Given the description of an element on the screen output the (x, y) to click on. 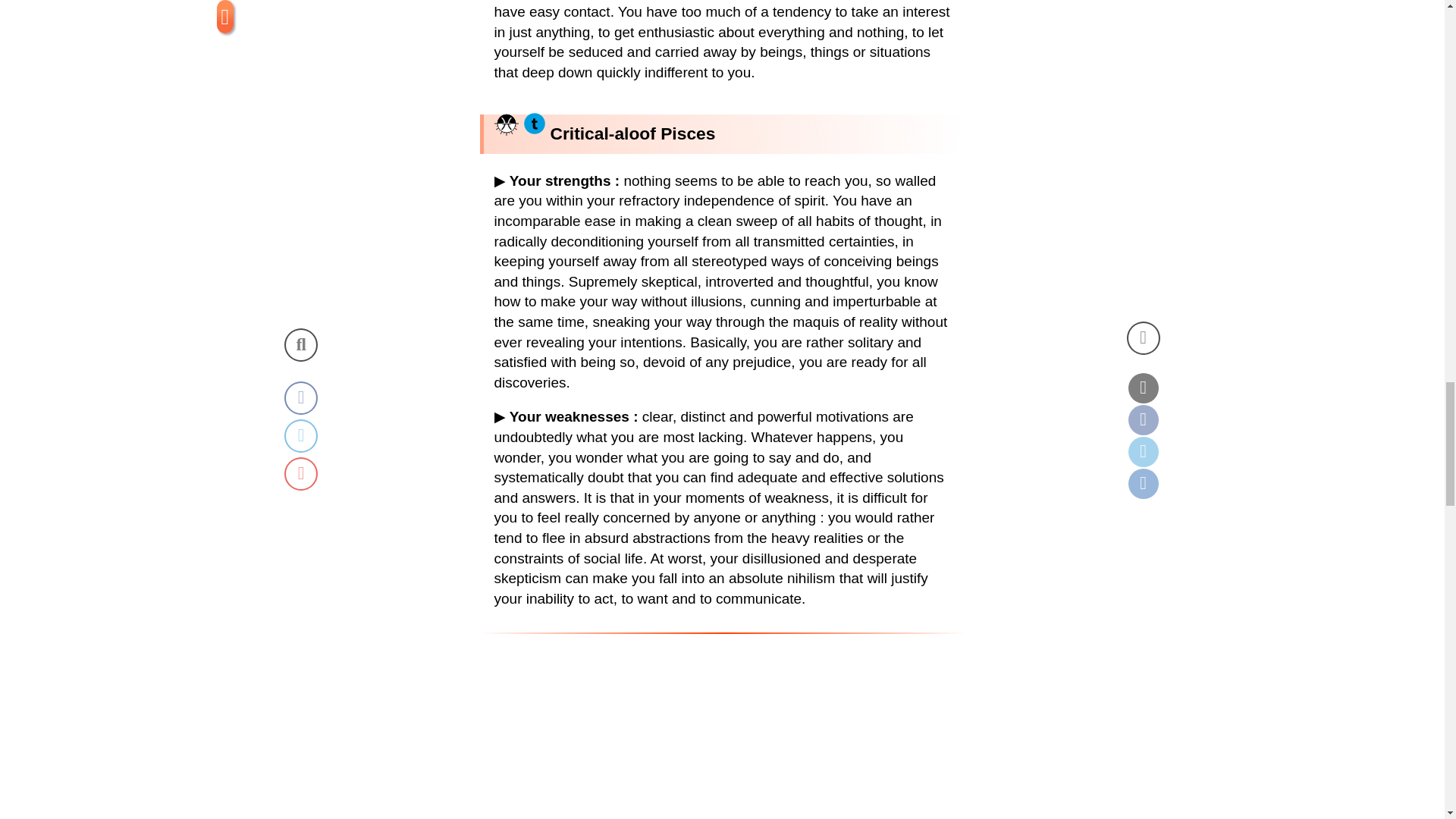
Pisces (506, 123)
